Given the description of an element on the screen output the (x, y) to click on. 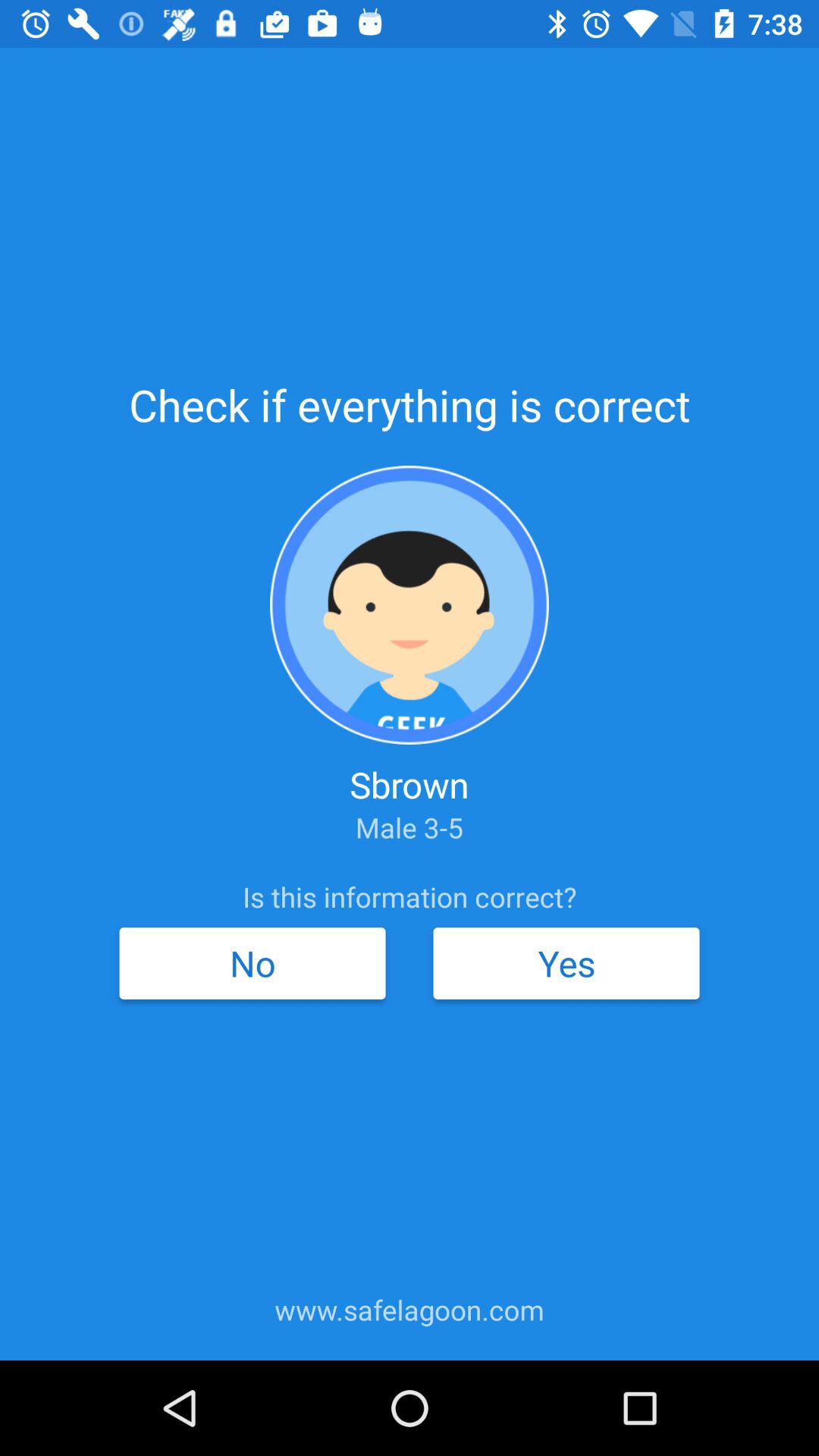
turn off icon to the right of the no (566, 963)
